Given the description of an element on the screen output the (x, y) to click on. 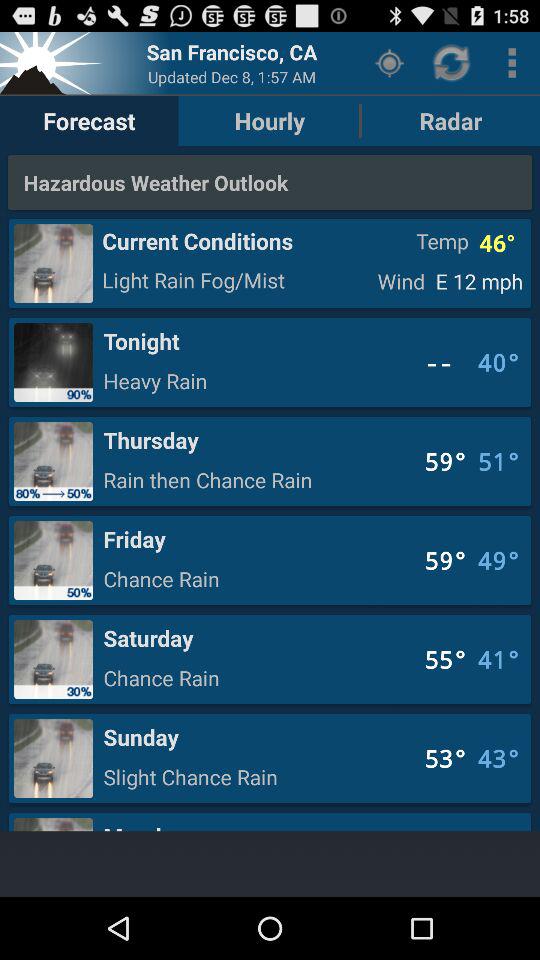
jump to the radar button (450, 120)
